Given the description of an element on the screen output the (x, y) to click on. 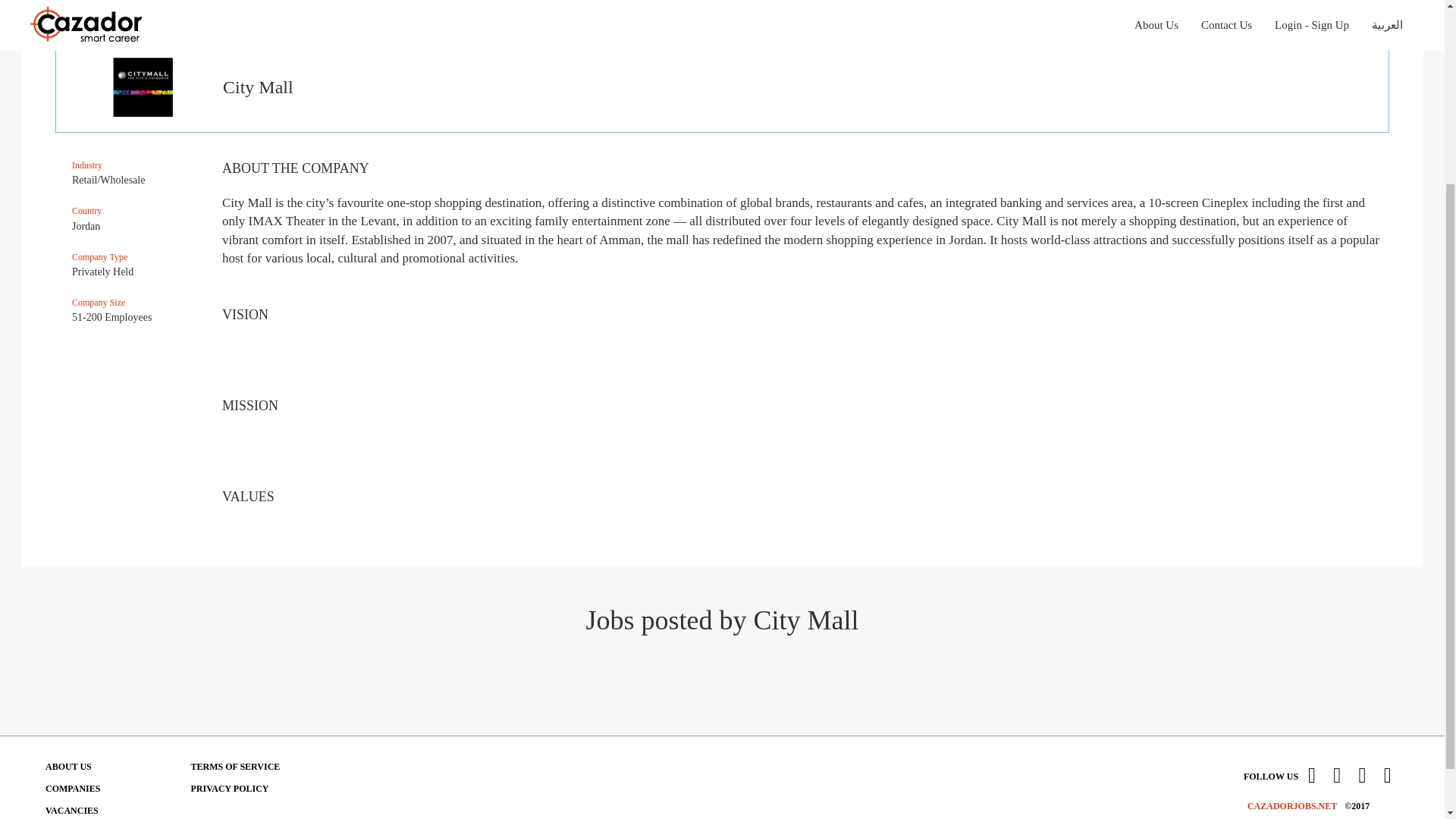
COMPANIES (72, 787)
ABOUT US (68, 766)
TERMS OF SERVICE (234, 766)
VACANCIES (72, 810)
Learn more about InVision (234, 766)
PRIVACY POLICY (228, 787)
